Given the description of an element on the screen output the (x, y) to click on. 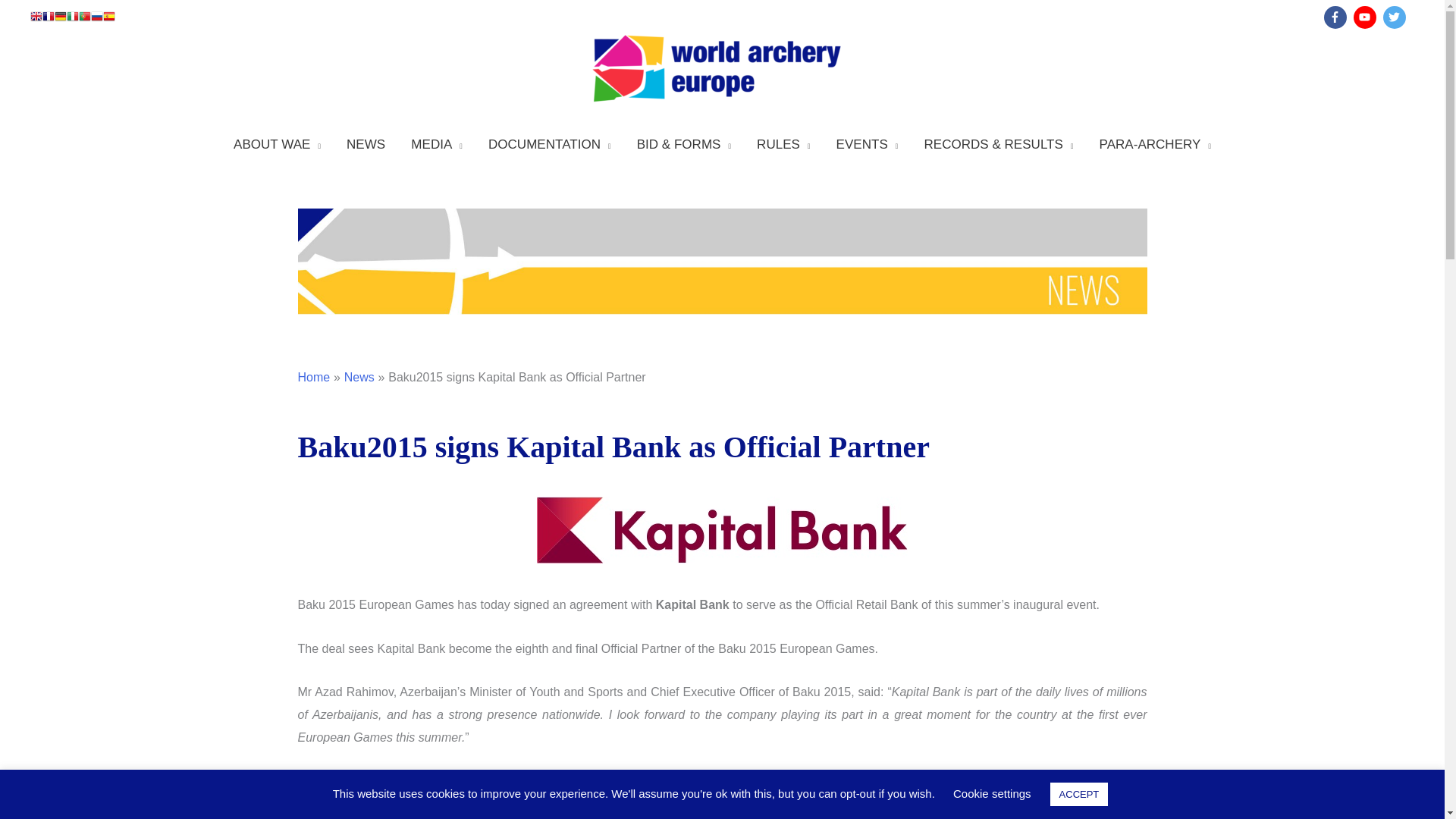
KapitalBanklogo (722, 529)
BANNER1200x150-02 (722, 261)
ABOUT WAE (277, 144)
NEWS (365, 144)
MEDIA (436, 144)
